Given the description of an element on the screen output the (x, y) to click on. 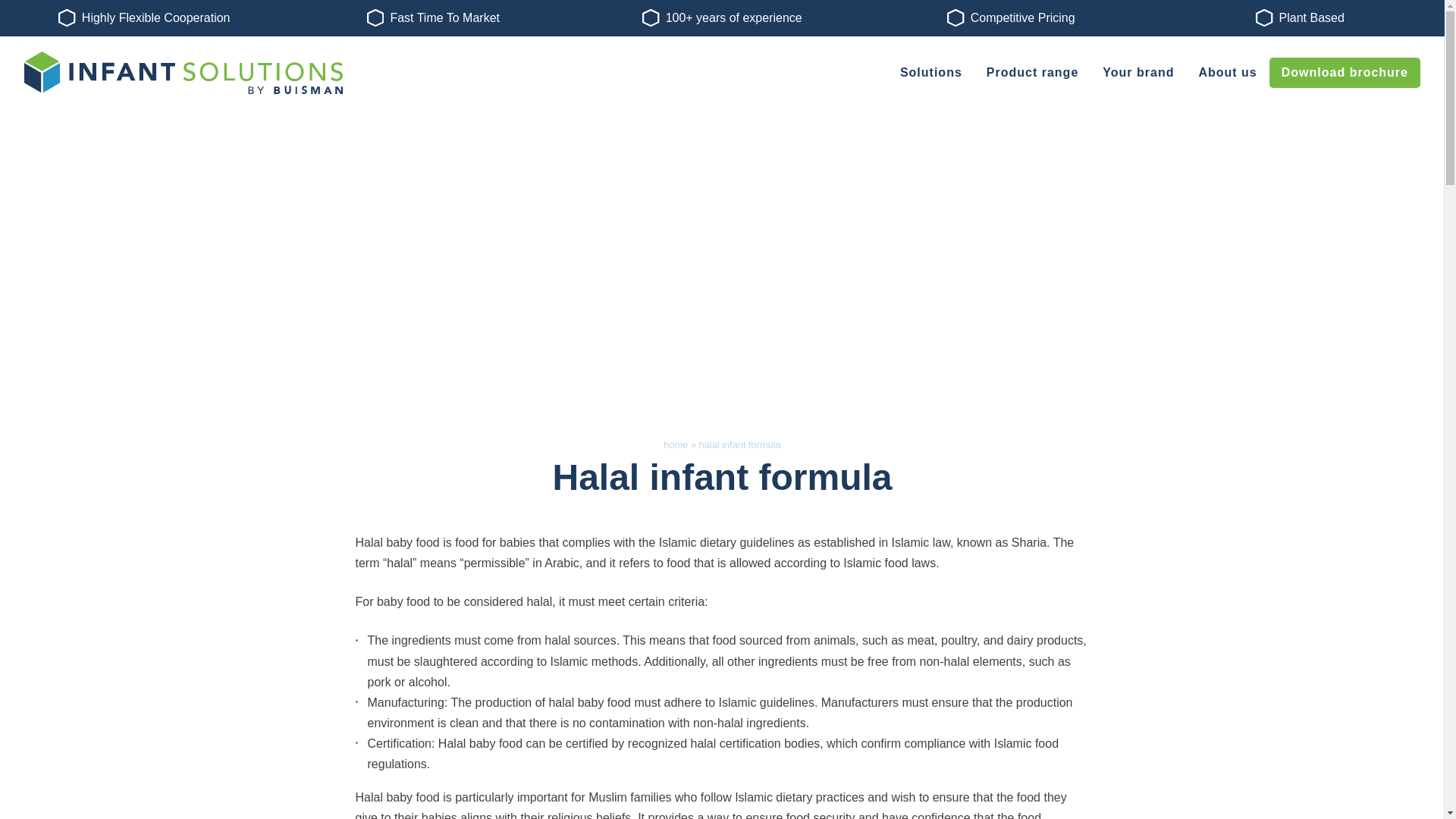
Download brochure (1345, 72)
Buisman Zwolle (183, 72)
Product range (1032, 72)
home (675, 444)
About us (1227, 72)
Solutions (931, 72)
Your brand (1138, 72)
